Given the description of an element on the screen output the (x, y) to click on. 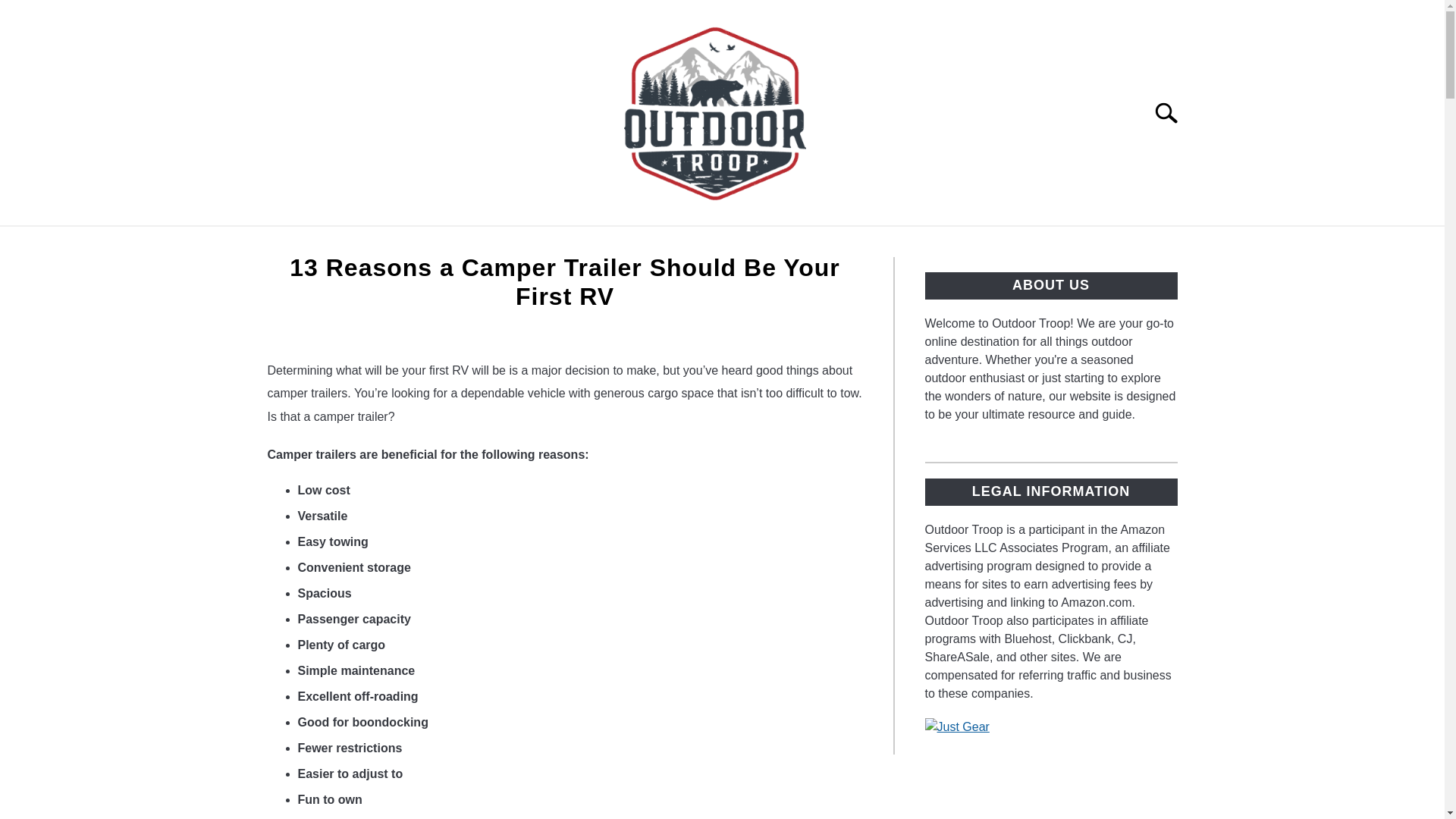
BOATING (558, 243)
FLIGHT (818, 243)
Search (1172, 112)
OFF ROAD (909, 243)
WINTER (1087, 243)
ARCHERY (363, 243)
BE ACTIVE (462, 243)
CAMPING (731, 243)
CABINS (644, 243)
FISHING (1002, 243)
